Given the description of an element on the screen output the (x, y) to click on. 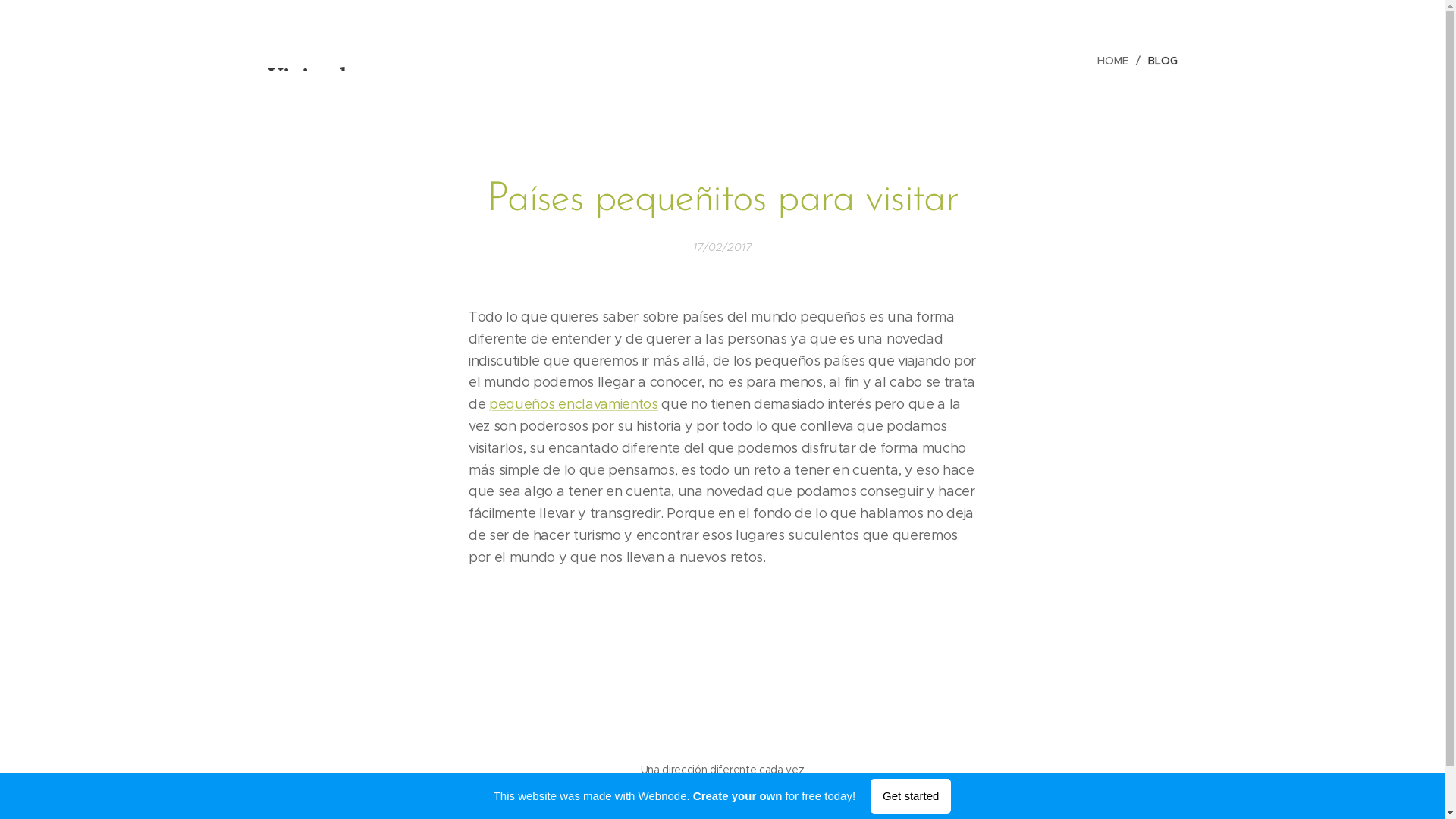
Webnode Element type: text (753, 786)
HOME Element type: text (1116, 60)
BLOG Element type: text (1158, 60)
Viajando Element type: text (313, 54)
